Given the description of an element on the screen output the (x, y) to click on. 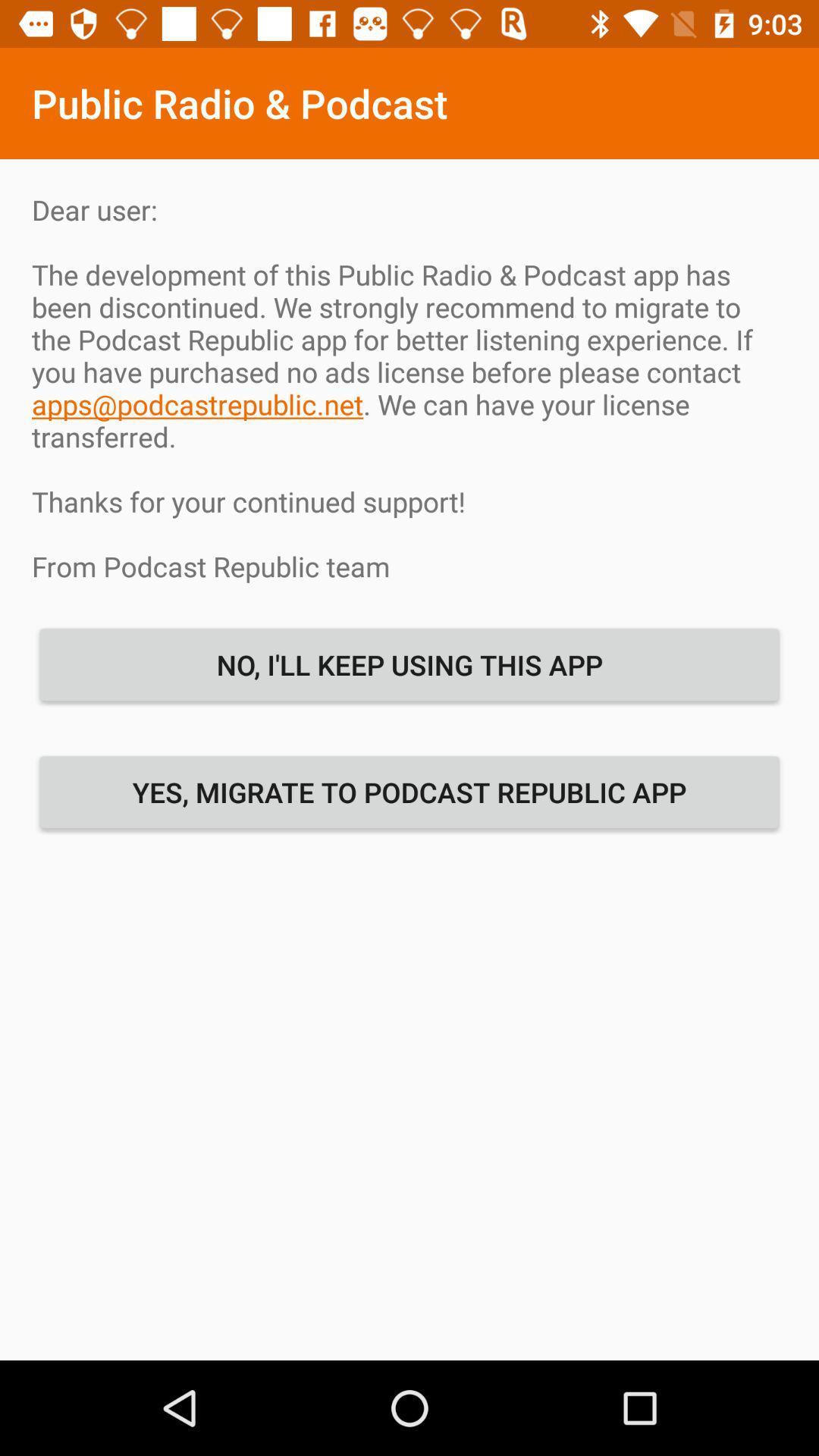
choose icon above no i ll item (409, 388)
